Given the description of an element on the screen output the (x, y) to click on. 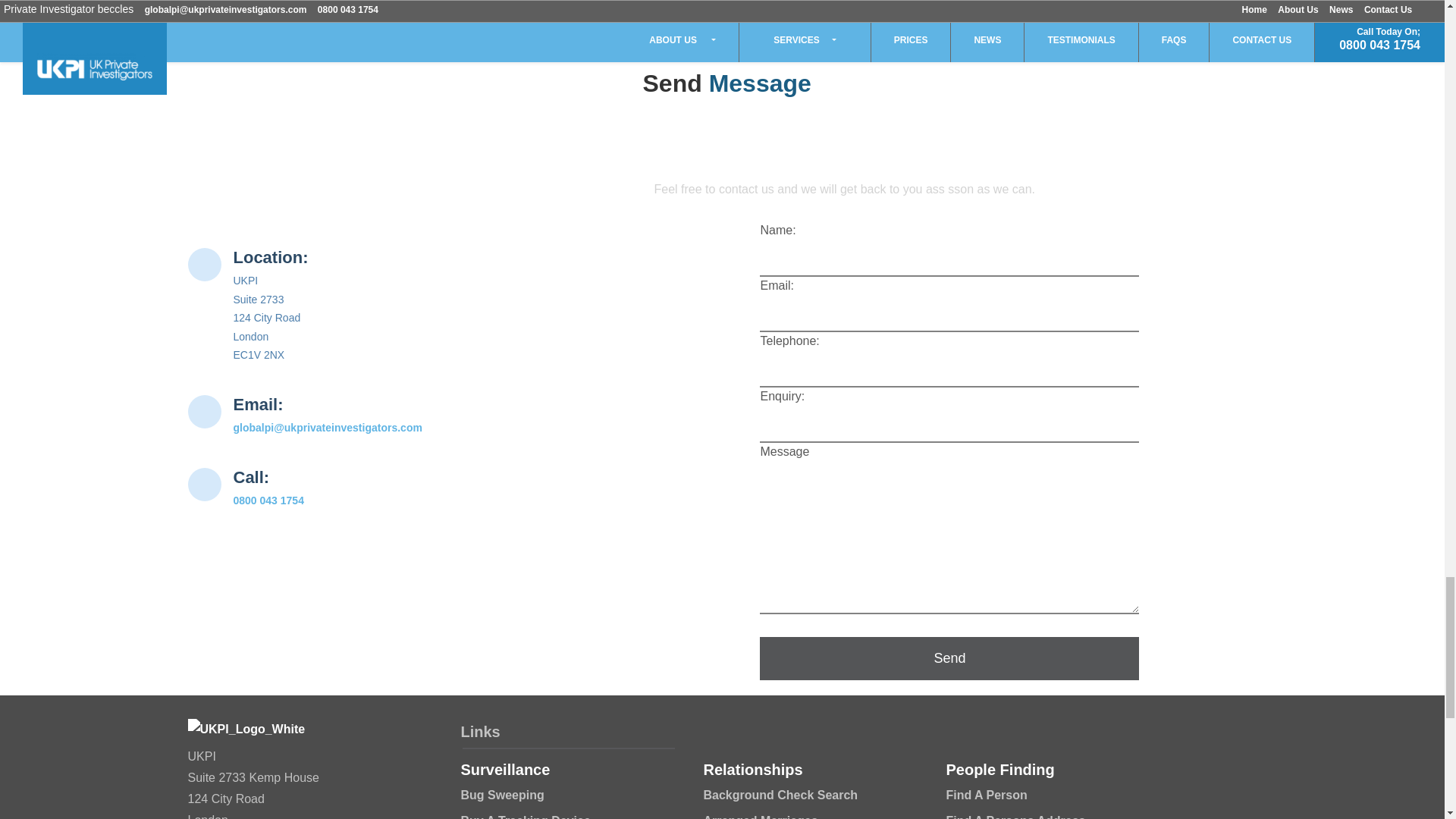
Send (949, 658)
